Given the description of an element on the screen output the (x, y) to click on. 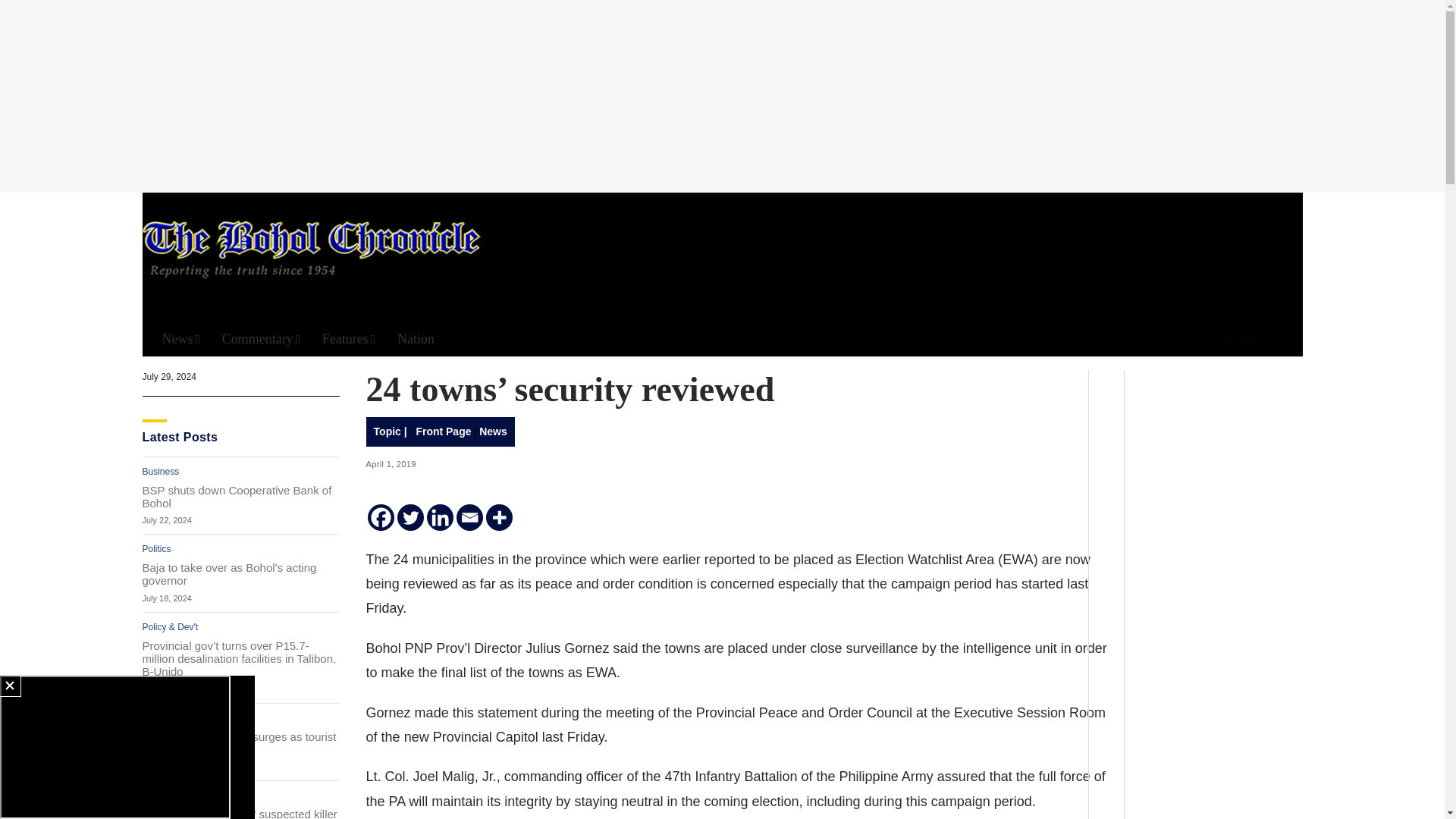
Nation (415, 339)
Search (1234, 339)
News (180, 339)
Facebook (381, 517)
Search (946, 157)
BSP shuts down Cooperative Bank of Bohol (240, 496)
Business (160, 471)
Bohol power demand surges as tourist arrivals rise (240, 742)
Features (348, 339)
Politics (156, 548)
Twitter (410, 517)
Linkedin (439, 517)
Law and Crime (172, 795)
Commentary (261, 339)
